Given the description of an element on the screen output the (x, y) to click on. 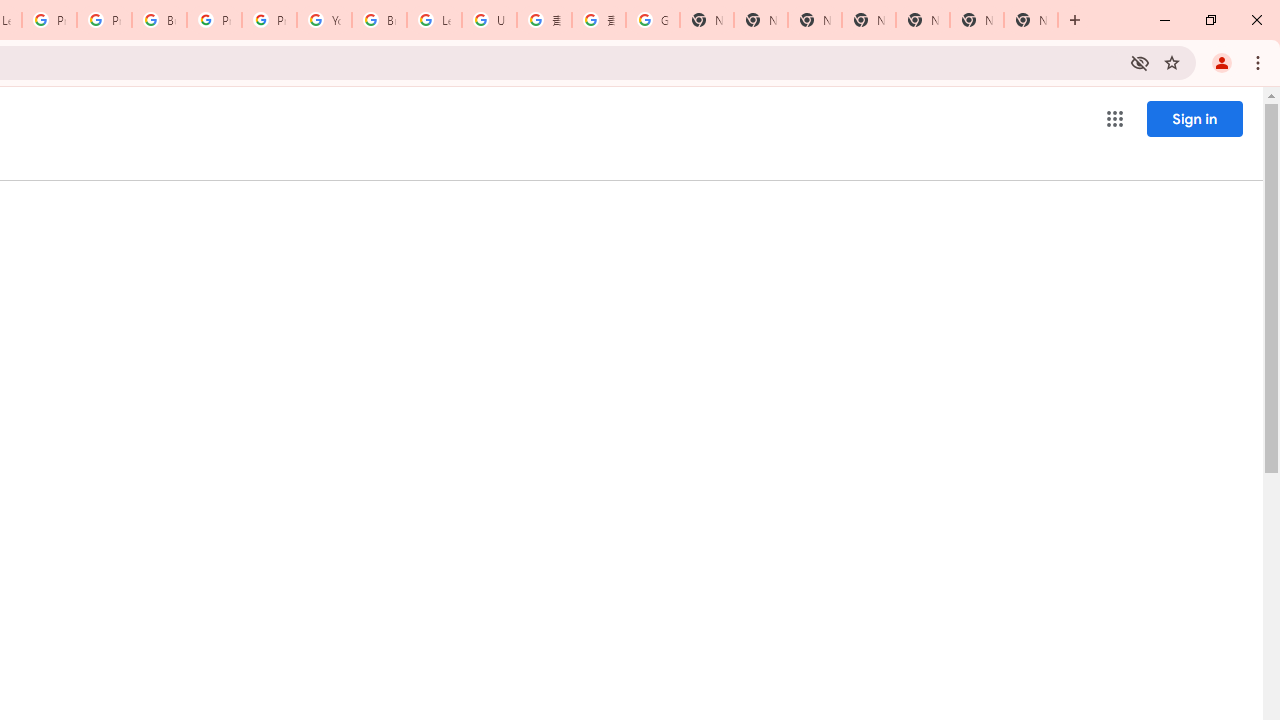
New Tab (1030, 20)
New Tab (868, 20)
